Given the description of an element on the screen output the (x, y) to click on. 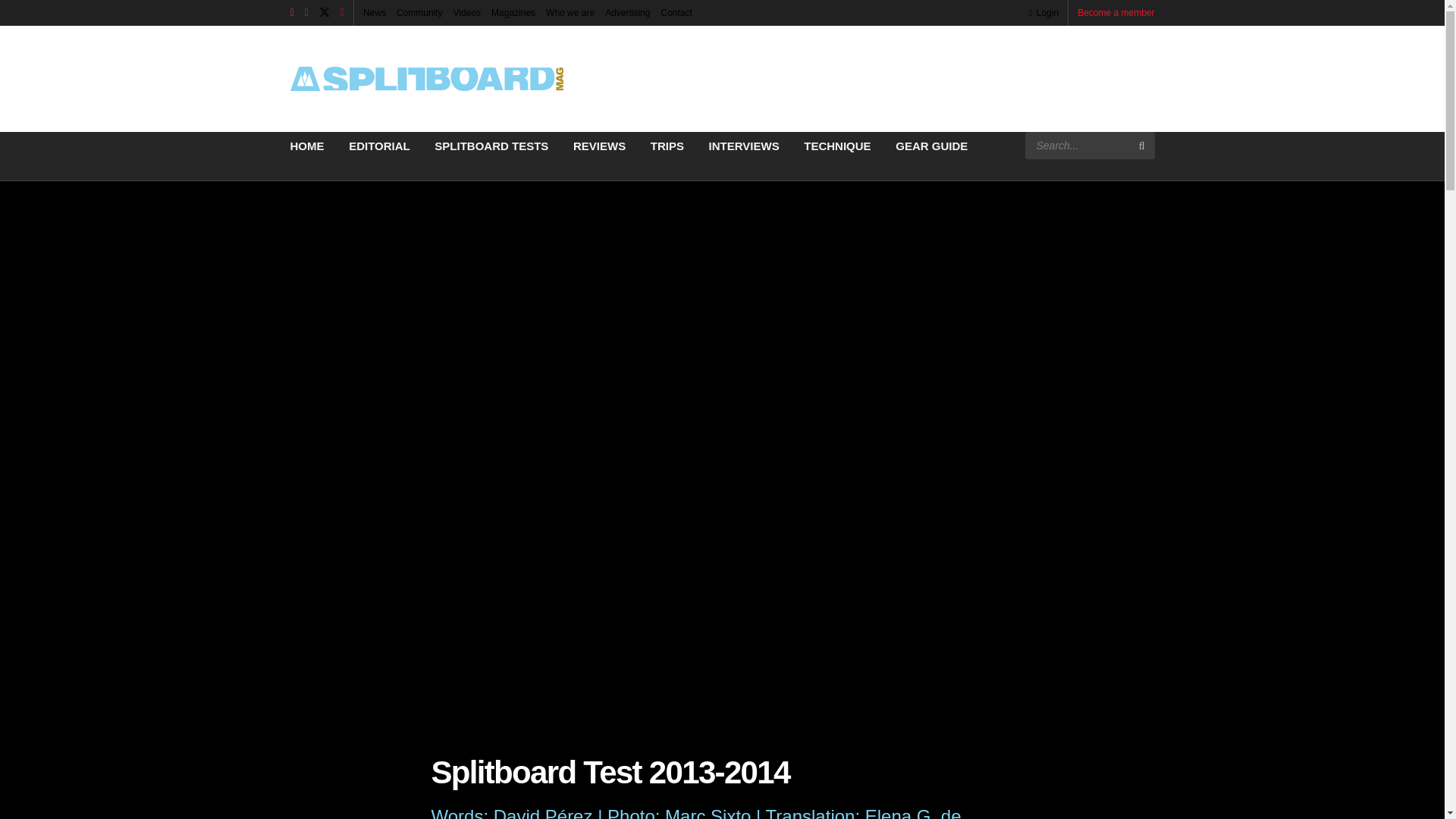
EDITORIAL (379, 146)
Login (1043, 12)
Who we are (570, 12)
HOME (306, 146)
INTERVIEWS (743, 146)
Contact (677, 12)
REVIEWS (599, 146)
Community (419, 12)
Advertising (627, 12)
Videos (466, 12)
